Given the description of an element on the screen output the (x, y) to click on. 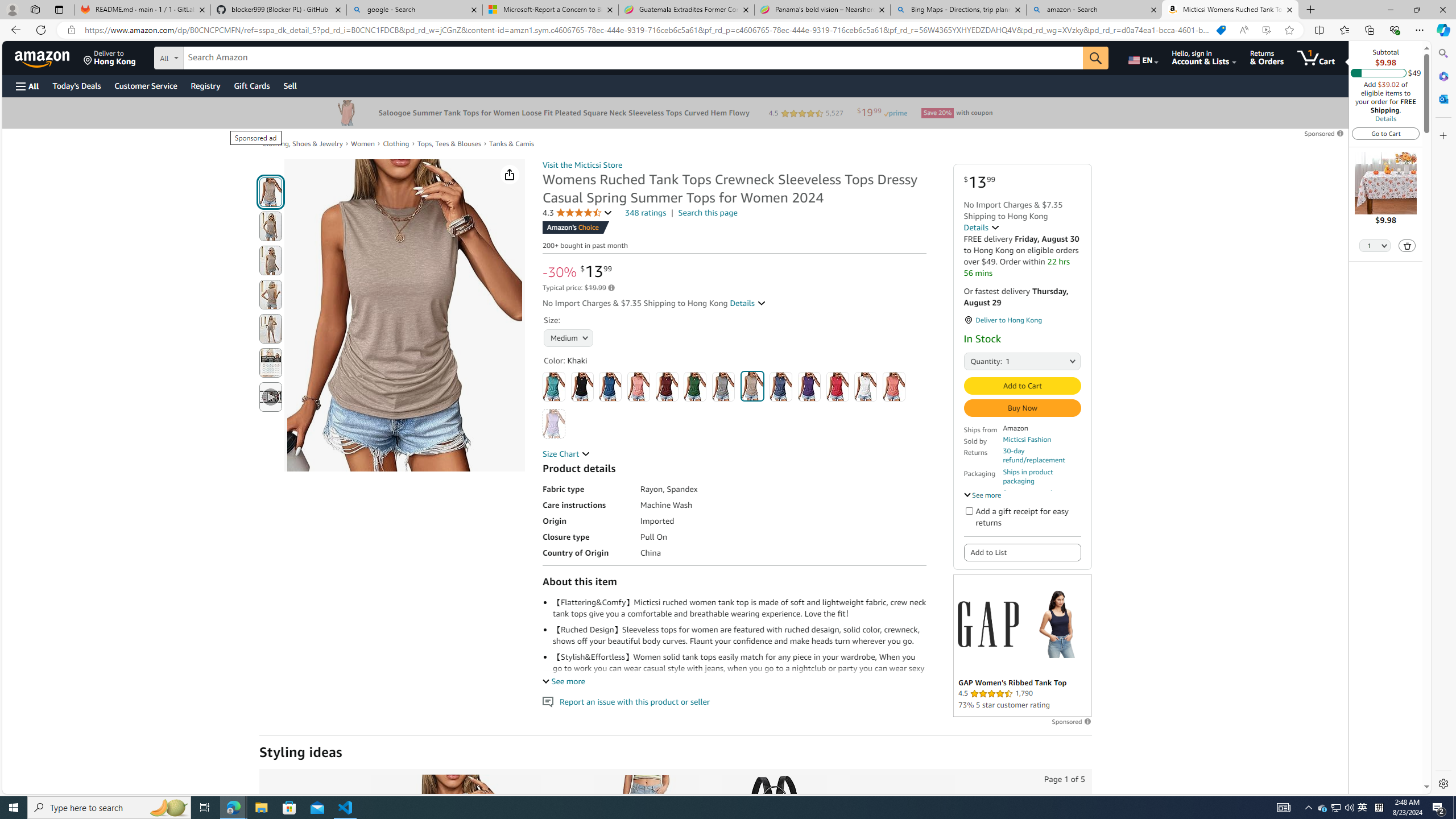
Navy Blue (781, 386)
Shopping in Microsoft Edge (1220, 29)
Black (581, 386)
Skip to main content (48, 56)
Search in (210, 56)
Quantity: (976, 360)
Details (1385, 118)
Micticsi Fashion (1027, 438)
